Given the description of an element on the screen output the (x, y) to click on. 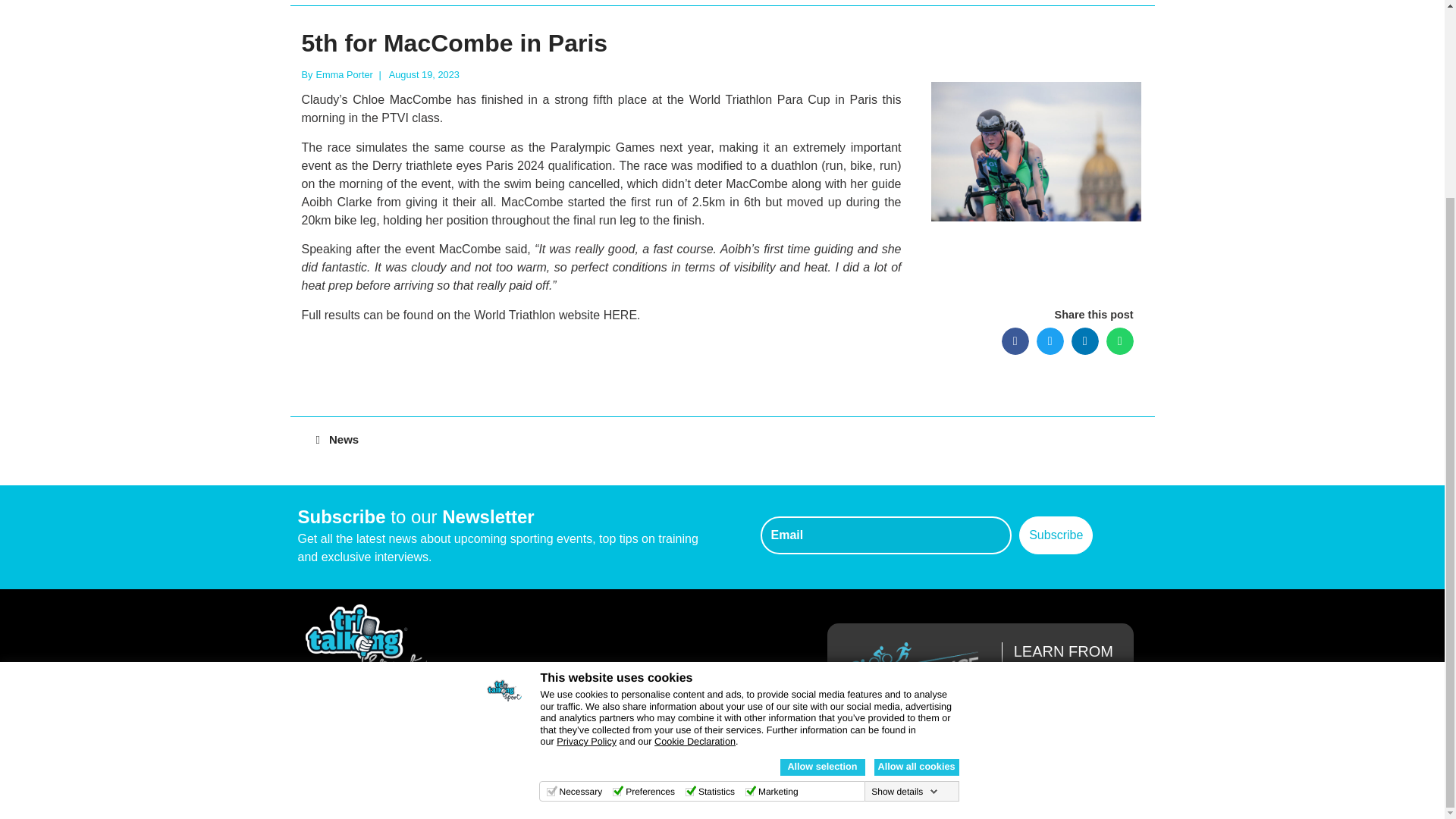
Allow all cookies (915, 515)
Subscribe (1056, 535)
Privacy Policy (585, 490)
Cookie Declaration (694, 490)
Allow selection (821, 515)
Show details (903, 540)
